Given the description of an element on the screen output the (x, y) to click on. 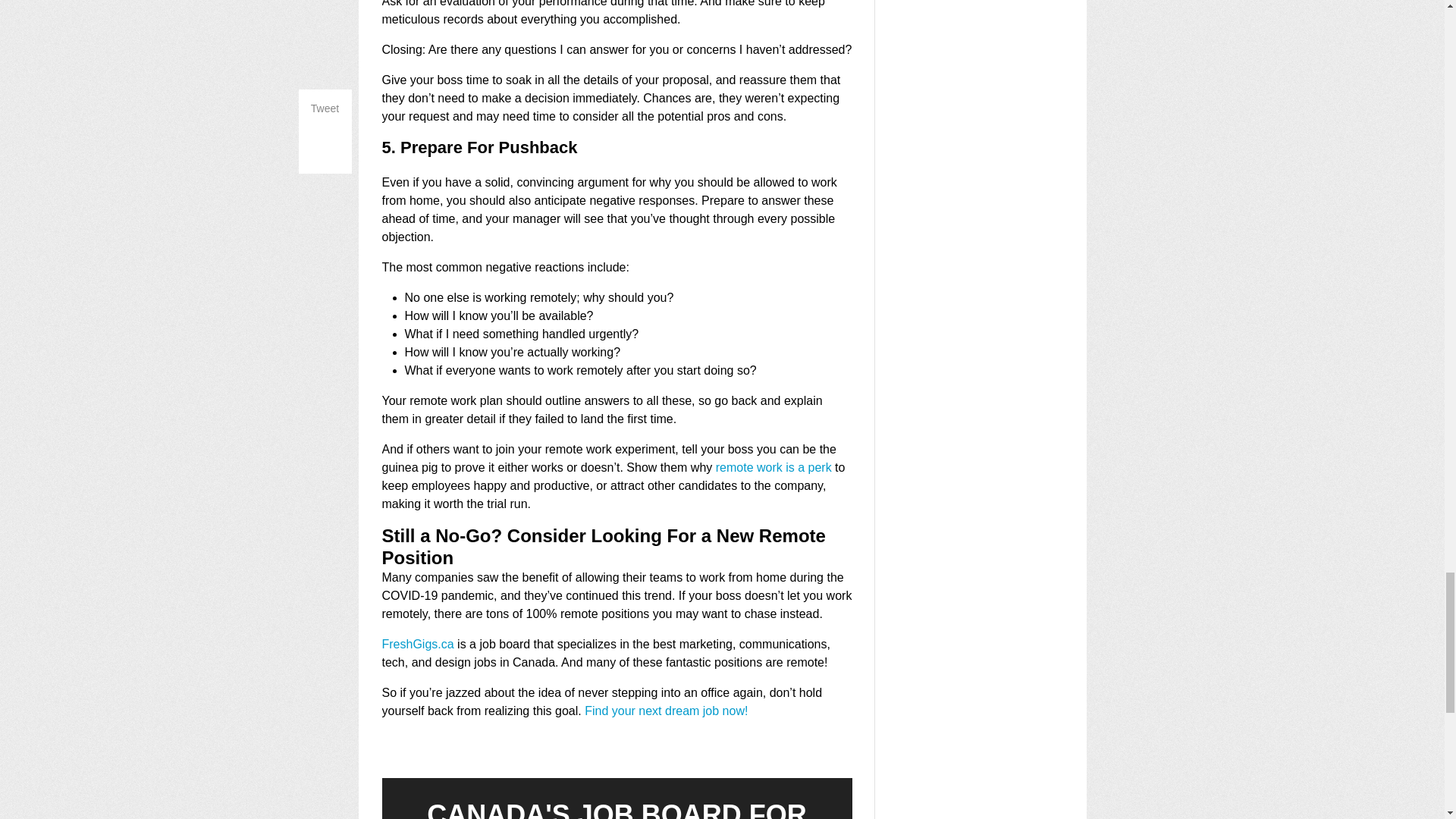
remote work is a perk (773, 467)
Find your next dream job now! (666, 710)
FreshGigs.ca (417, 644)
